Given the description of an element on the screen output the (x, y) to click on. 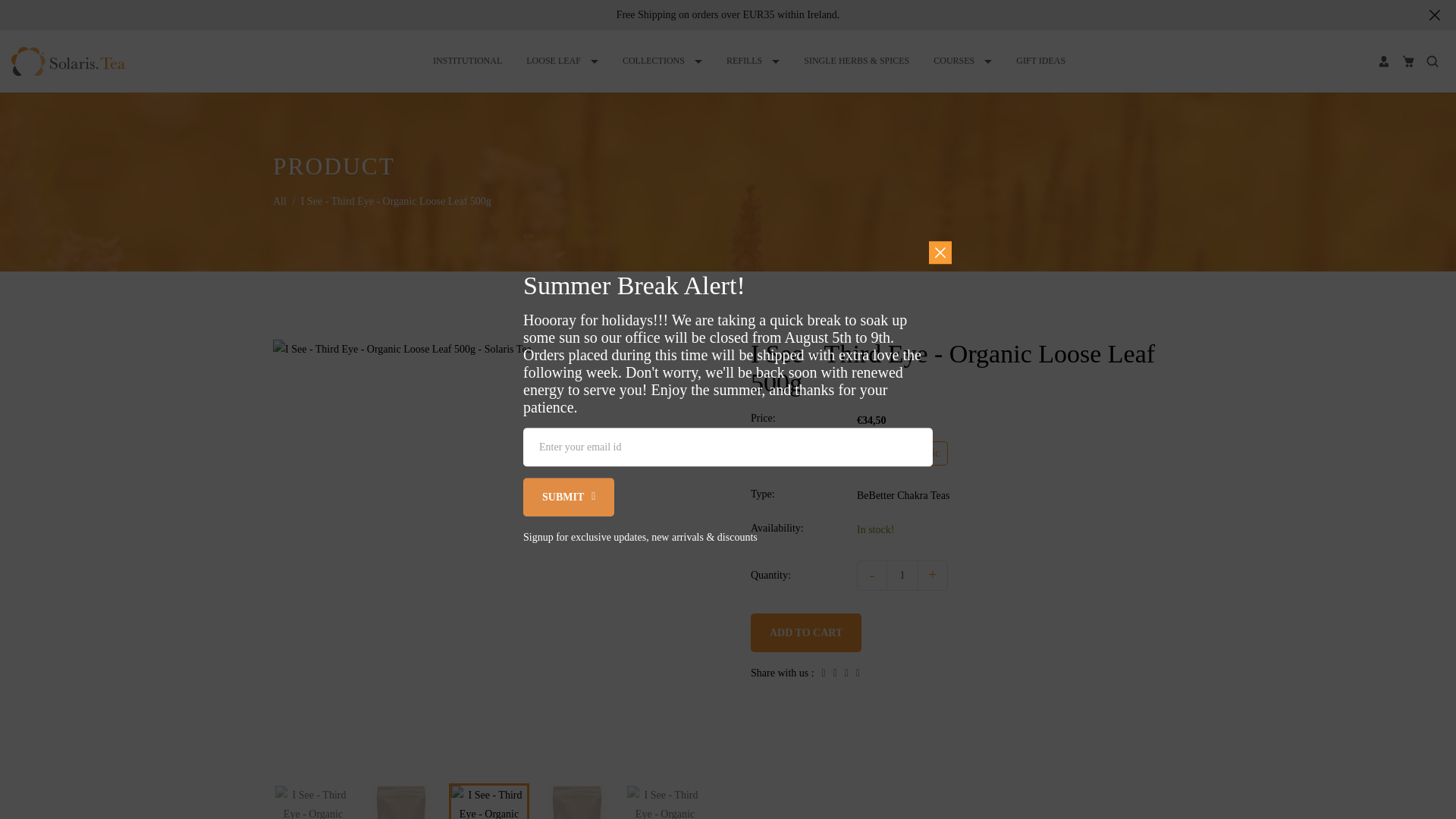
COURSES (962, 61)
REFILLS (752, 61)
I See - Third Eye - Organic Loose Leaf 500g (400, 802)
INSTITUTIONAL (467, 61)
Free Shipping on orders over EUR35 within Ireland. (727, 14)
LOOSE LEAF (562, 61)
I See - Third Eye - Organic Loose Leaf 500g (489, 802)
I See - Third Eye - Organic Loose Leaf 500g (665, 802)
GIFT IDEAS (1040, 61)
Search (1432, 60)
COLLECTIONS (662, 61)
I See - Third Eye - Organic Loose Leaf 500g (312, 802)
1 (901, 575)
I See - Third Eye - Organic Loose Leaf 500g (576, 802)
